Given the description of an element on the screen output the (x, y) to click on. 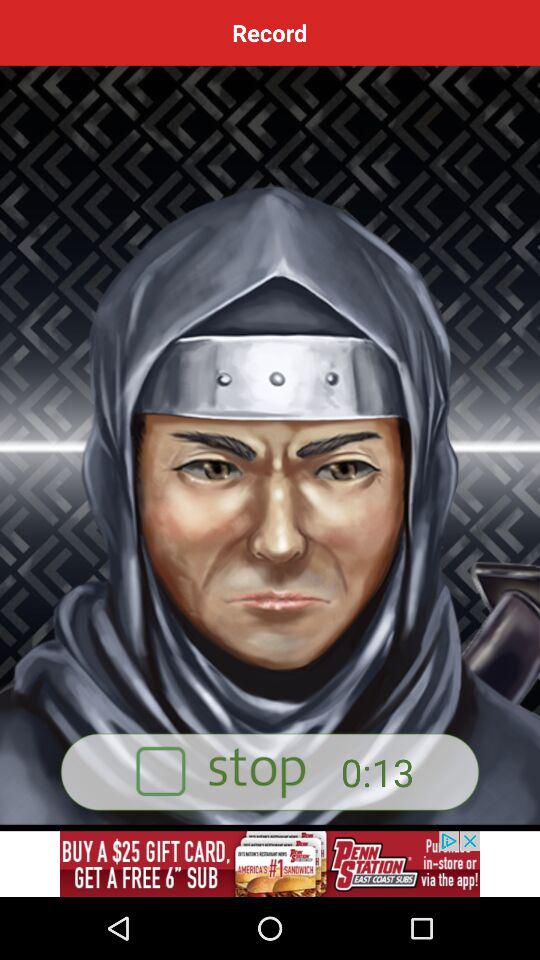
record (270, 864)
